Given the description of an element on the screen output the (x, y) to click on. 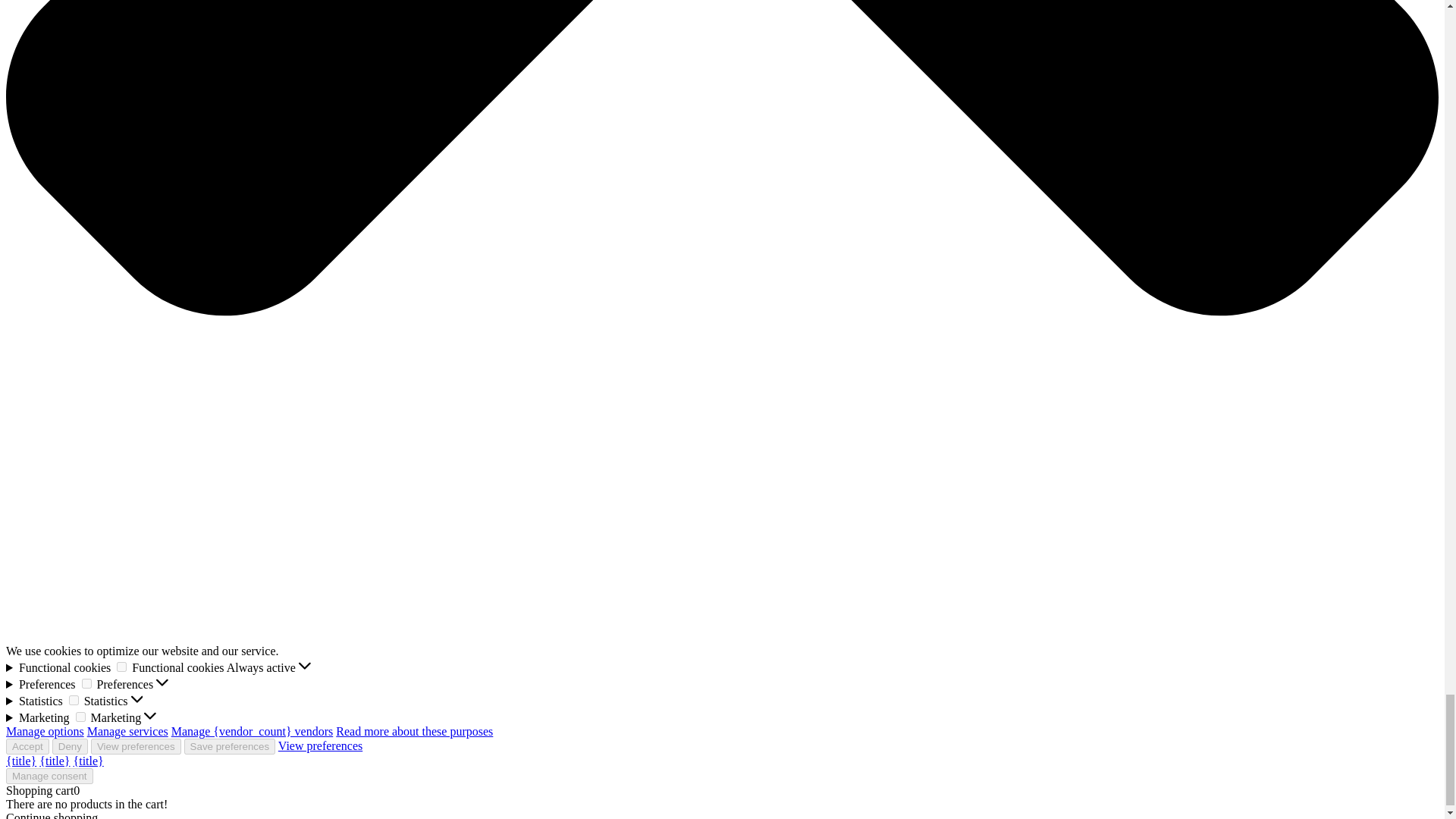
1 (121, 666)
1 (80, 716)
1 (73, 700)
1 (86, 683)
